Given the description of an element on the screen output the (x, y) to click on. 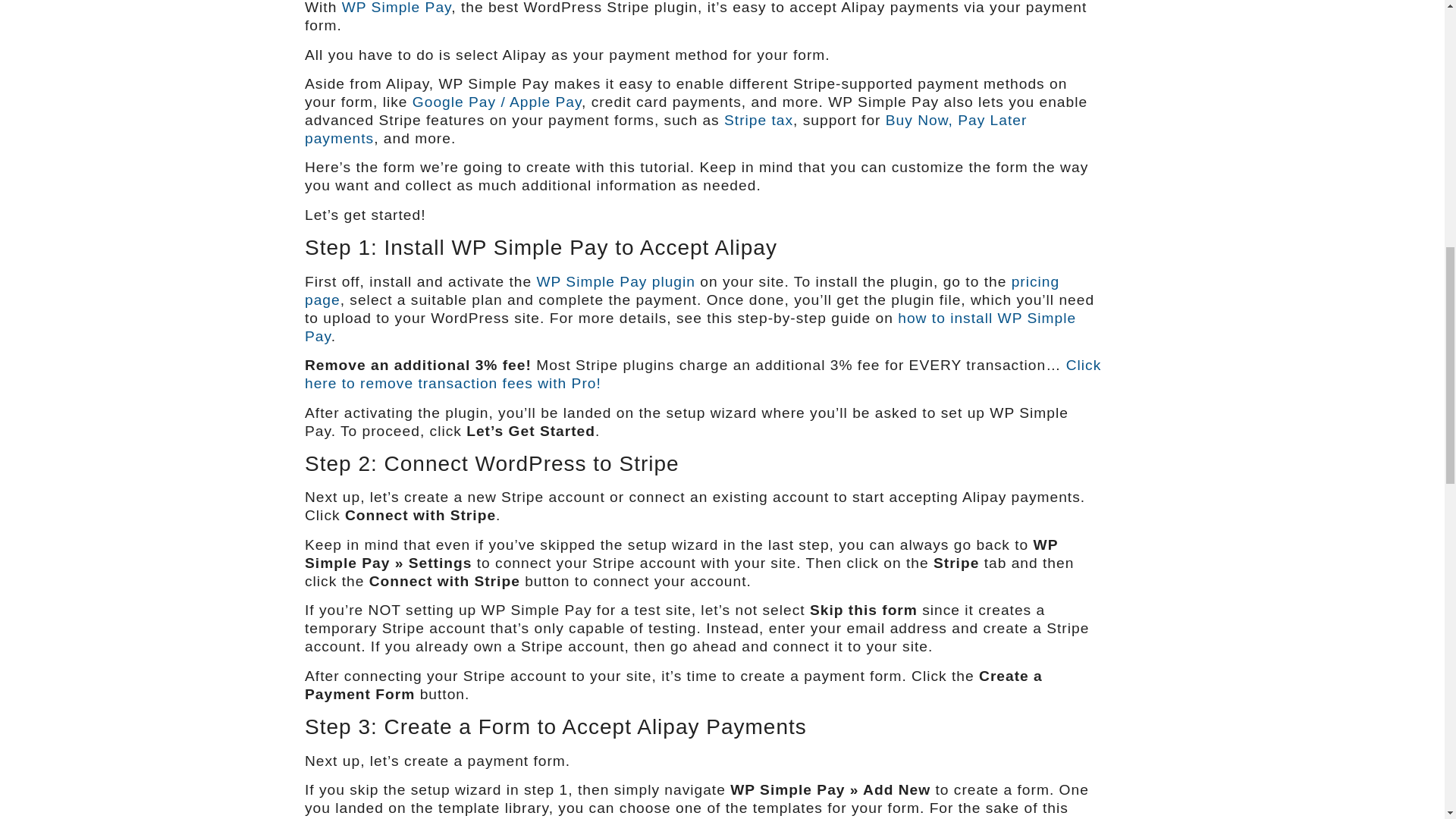
Pricing (614, 281)
pricing page (681, 290)
Pricing (702, 374)
Stripe tax (758, 119)
WP Simple Pay plugin (614, 281)
Pricing (681, 290)
Click here to remove transaction fees with Pro! (702, 374)
WP Simple Pay (396, 7)
Pricing (396, 7)
Buy Now, Pay Later payments (665, 129)
